Given the description of an element on the screen output the (x, y) to click on. 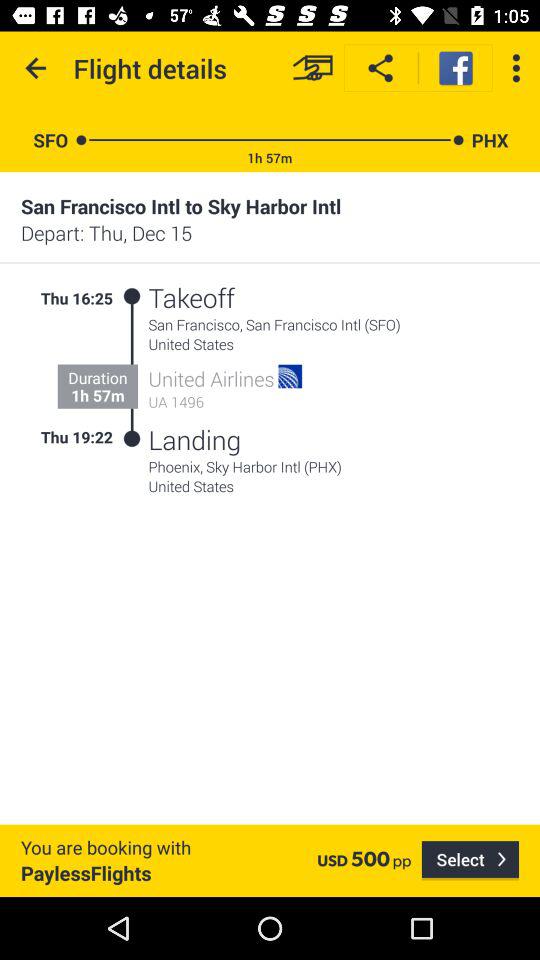
select item below the landing icon (333, 466)
